Given the description of an element on the screen output the (x, y) to click on. 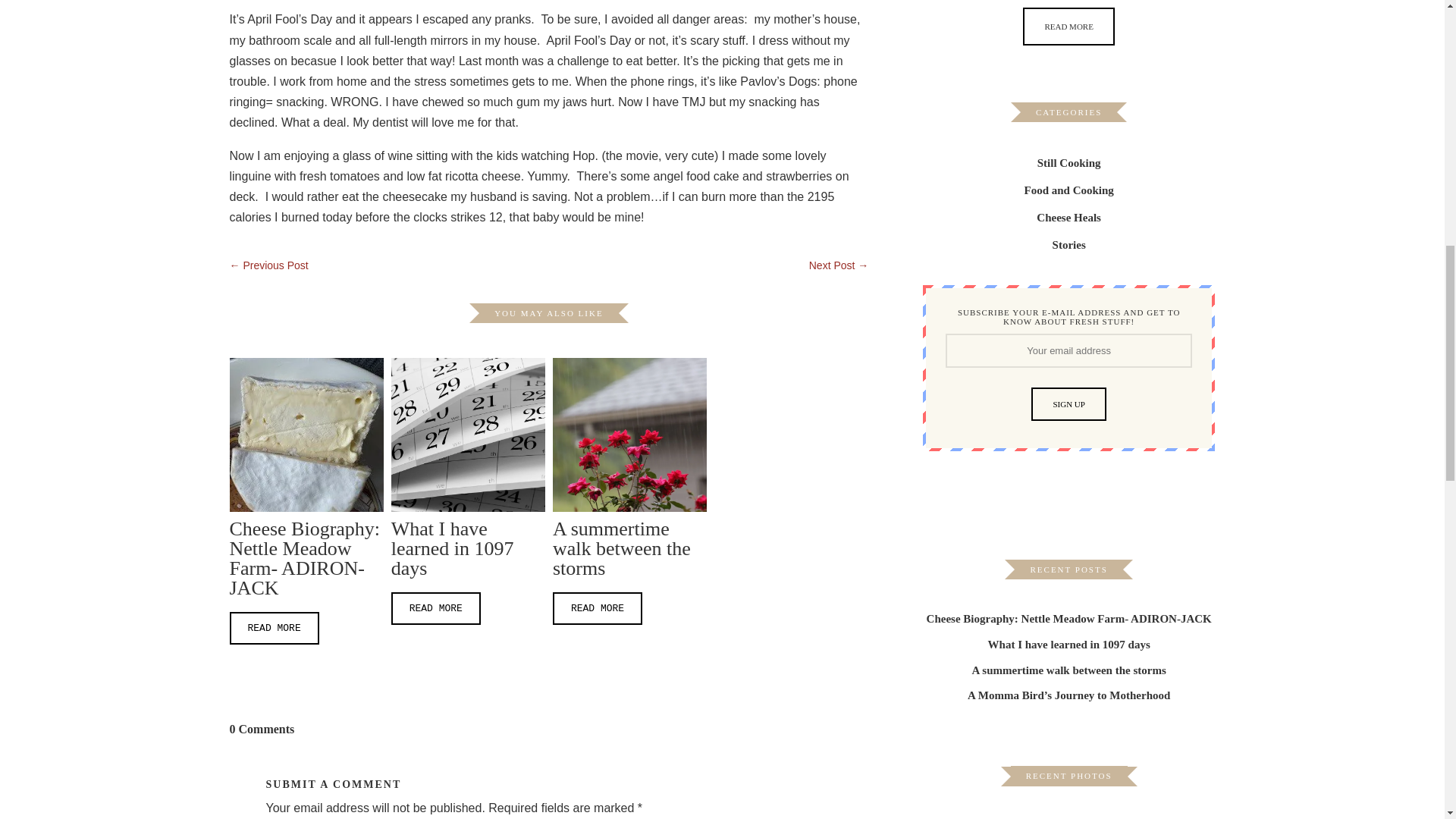
READ MORE (597, 608)
A summertime walk between the storms (621, 548)
Sign up (1067, 403)
READ MORE (1068, 26)
Cheese Heals (1068, 218)
A summertime walk between the storms (1069, 669)
Food and Cooking (1068, 190)
Cheese Biography: Nettle Meadow Farm- ADIRON-JACK (1068, 617)
What I have learned in 1097 days (452, 548)
What I have learned in 1097 days (1069, 644)
